Given the description of an element on the screen output the (x, y) to click on. 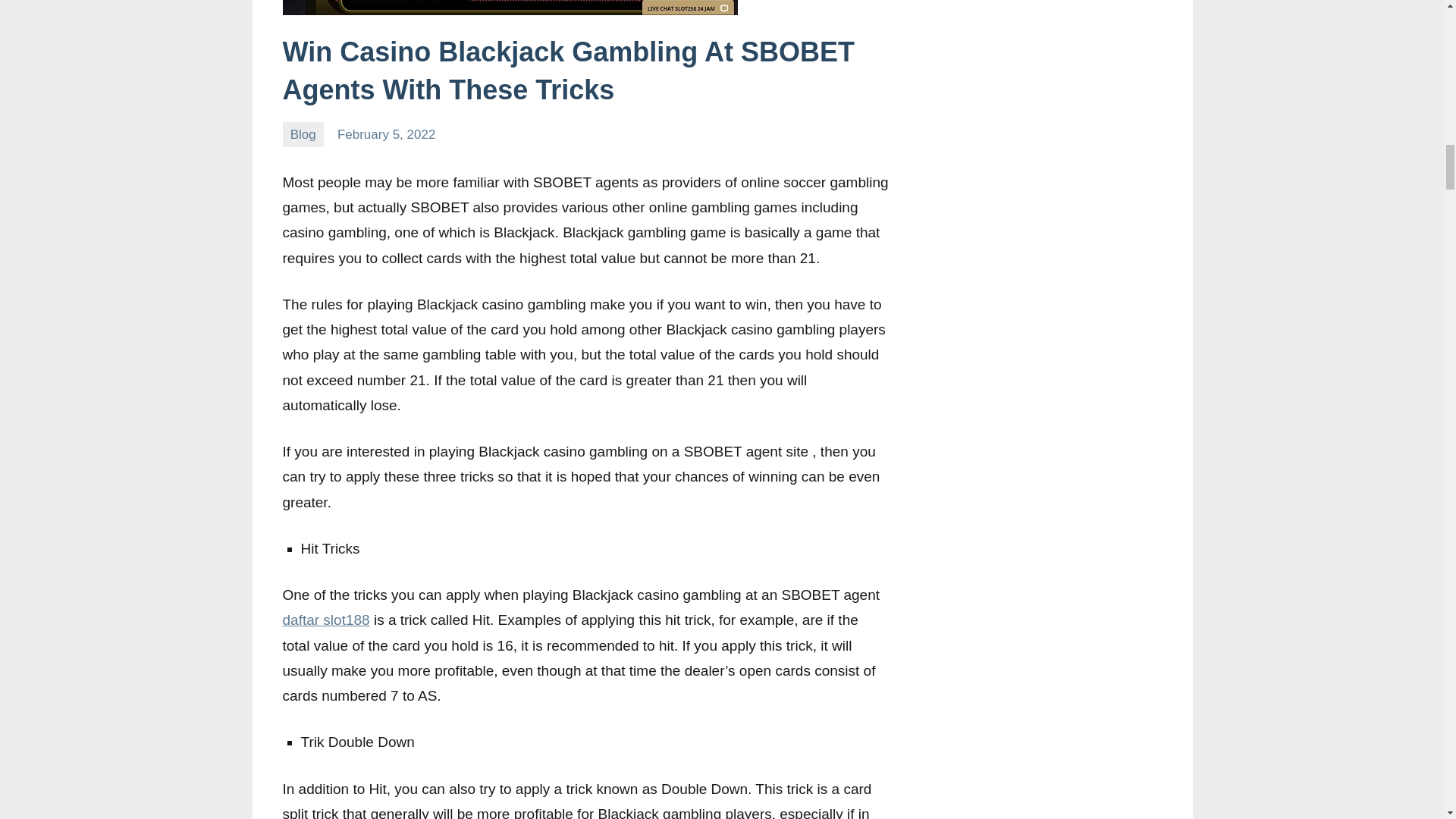
February 5, 2022 (386, 134)
daftar slot188 (325, 619)
Blog (302, 134)
